Given the description of an element on the screen output the (x, y) to click on. 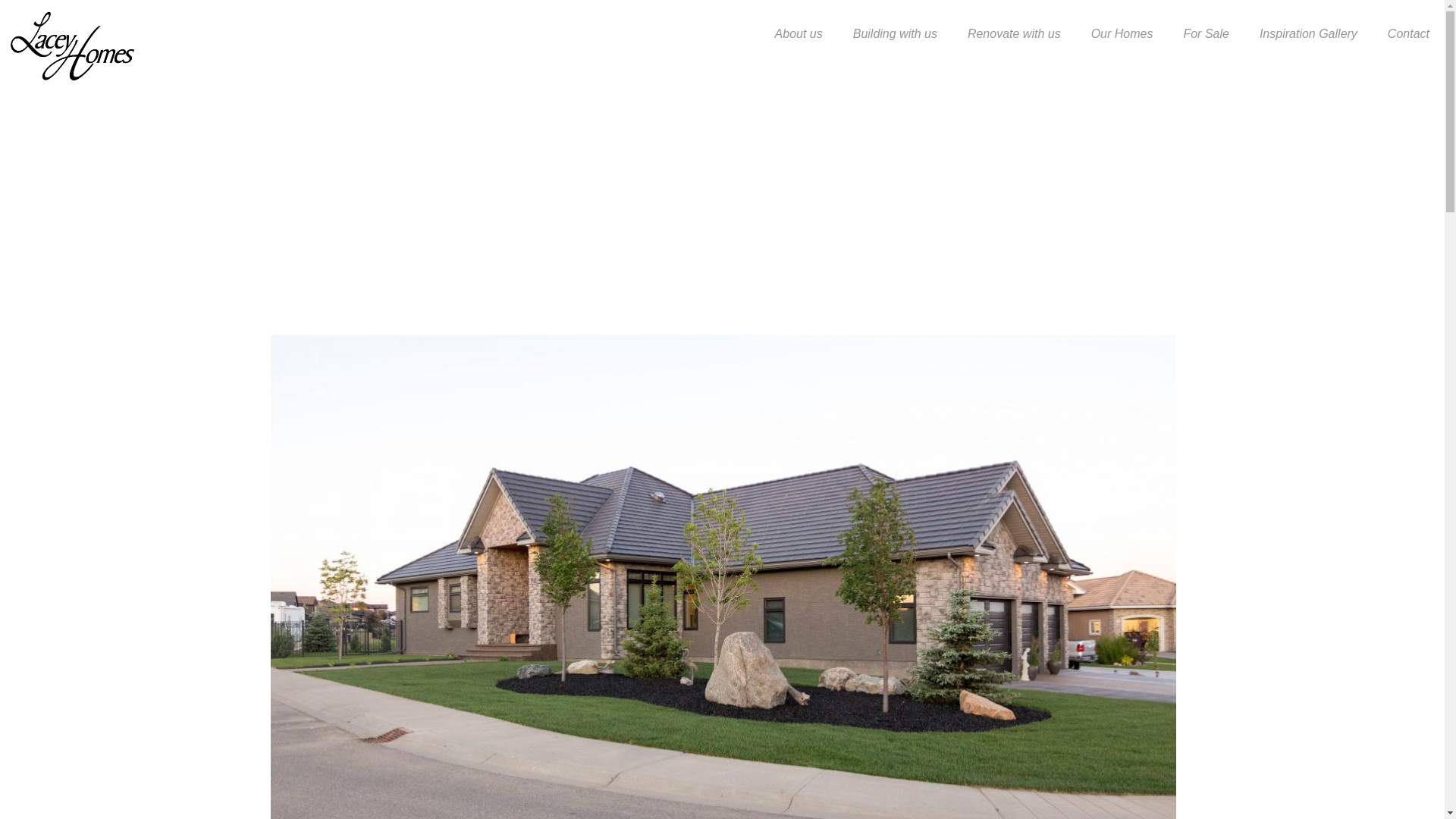
Lacey Homes (72, 45)
Building with us (895, 33)
Renovate with us (1013, 33)
Our Homes (1122, 33)
About us (799, 33)
Inspiration Gallery (1308, 33)
For Sale (1205, 33)
